Given the description of an element on the screen output the (x, y) to click on. 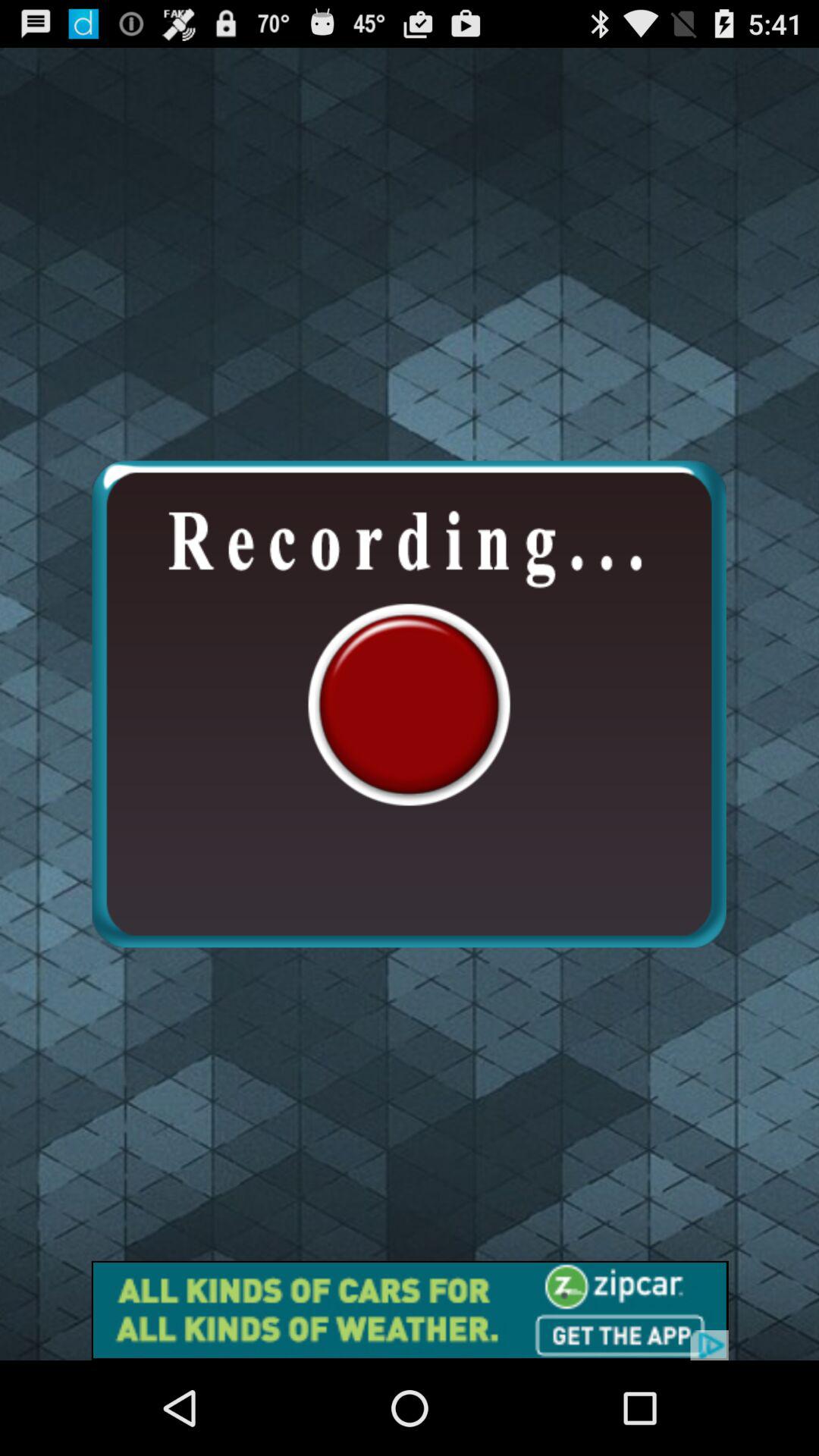
recording (409, 703)
